Given the description of an element on the screen output the (x, y) to click on. 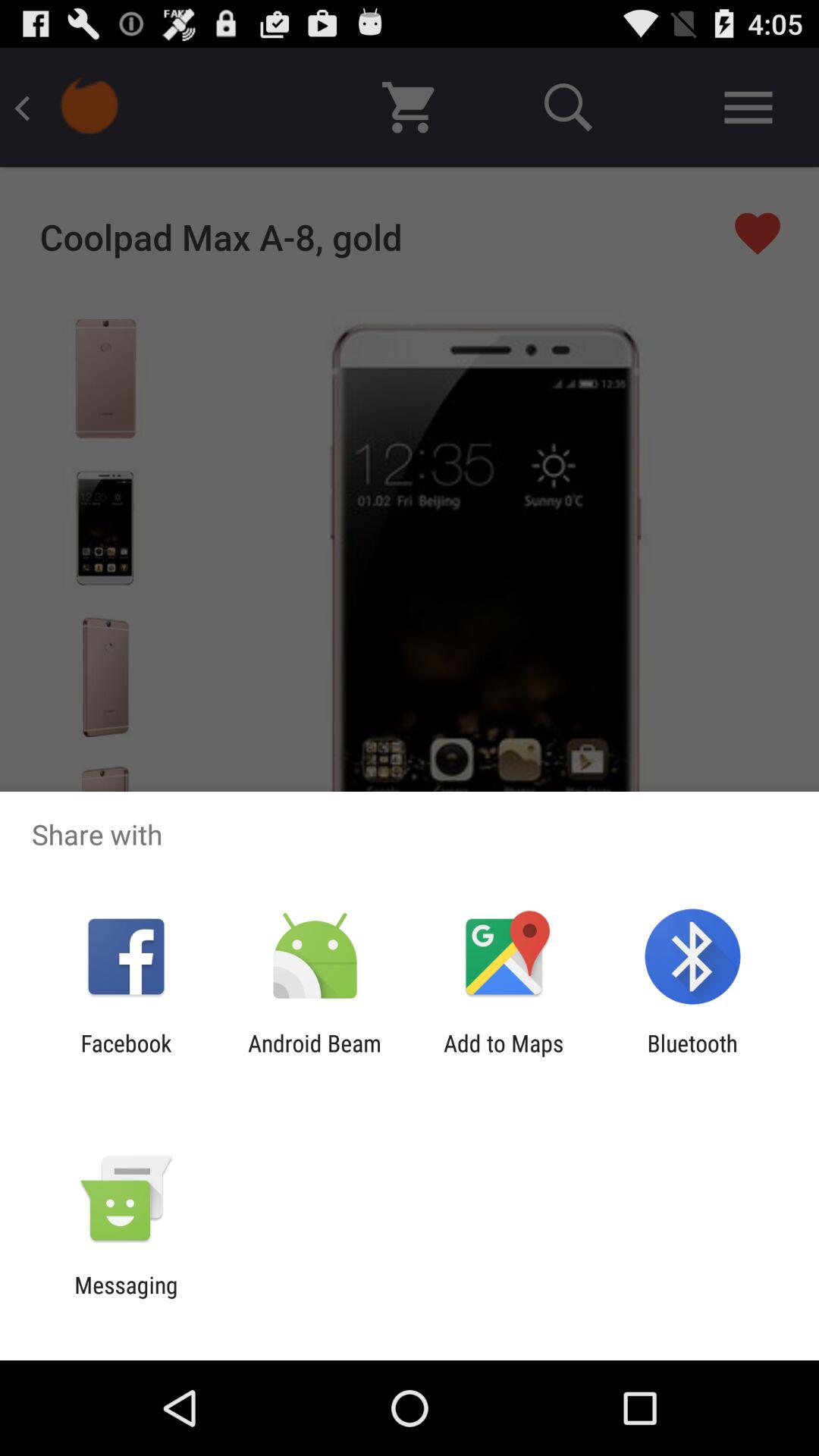
click the icon next to add to maps (314, 1056)
